Given the description of an element on the screen output the (x, y) to click on. 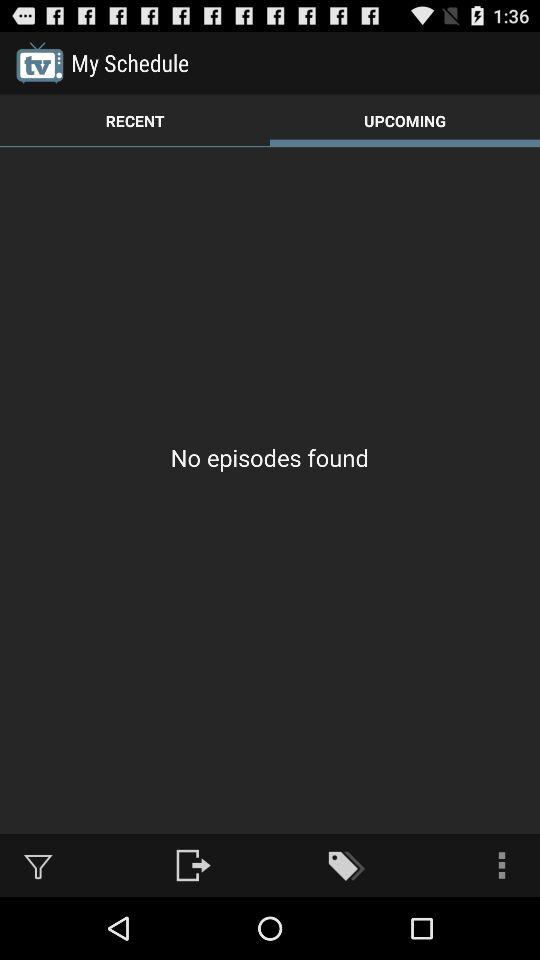
turn off item at the bottom left corner (38, 864)
